Given the description of an element on the screen output the (x, y) to click on. 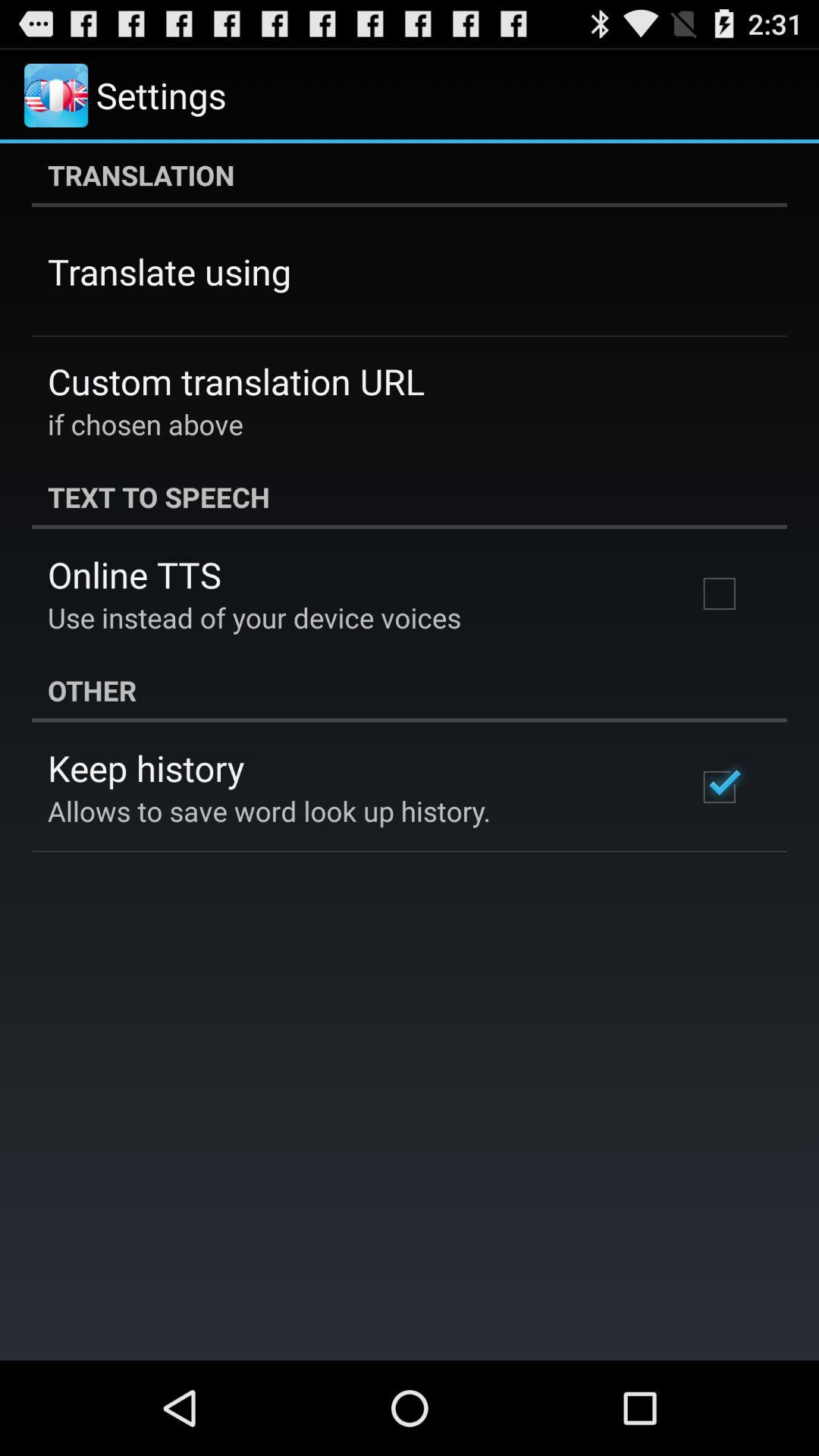
swipe to custom translation url (235, 381)
